Given the description of an element on the screen output the (x, y) to click on. 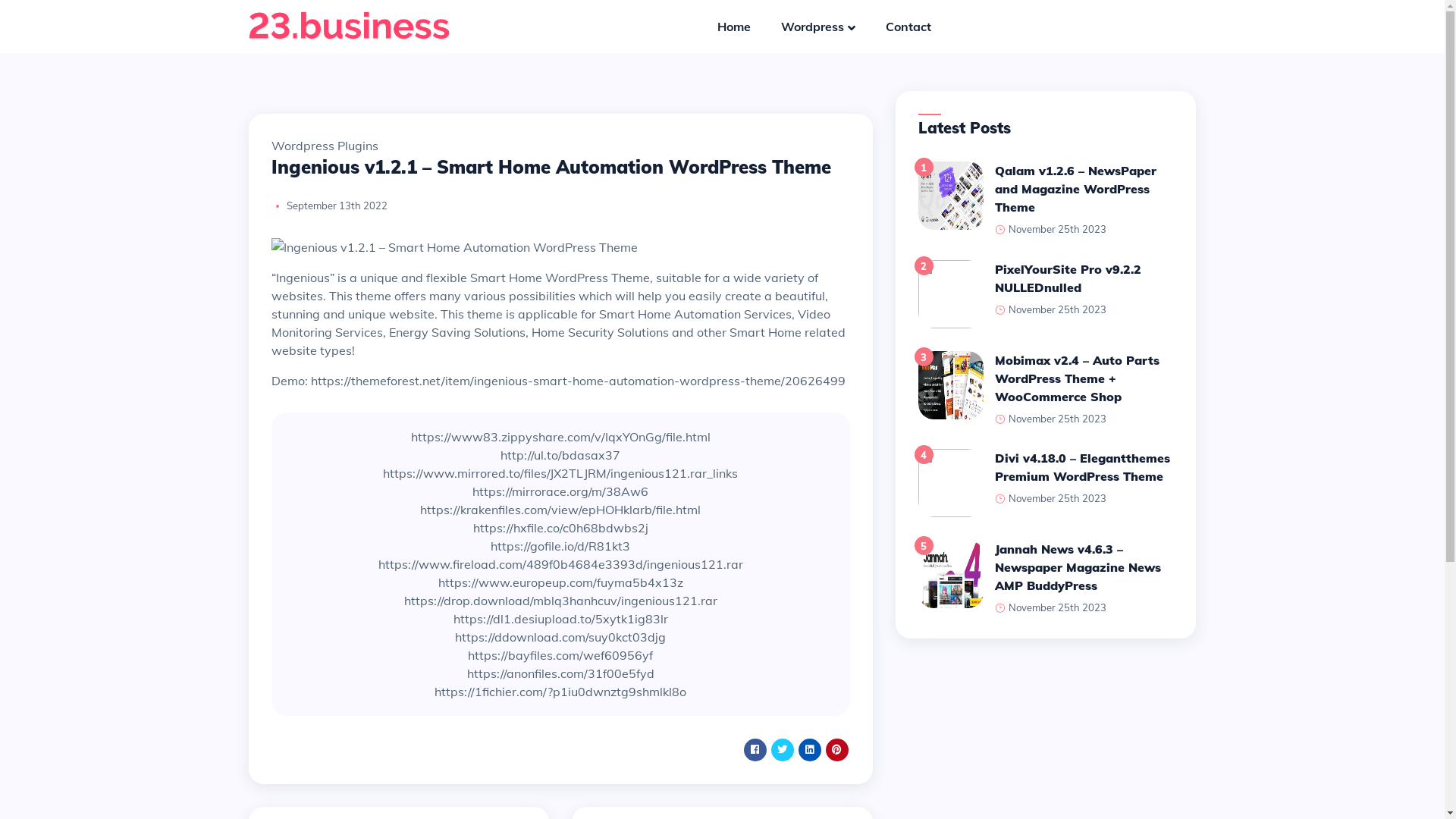
Wordpress Element type: text (833, 26)
WordPress Element type: text (577, 277)
theme Element type: text (372, 295)
Home Element type: text (749, 26)
Contact Element type: text (908, 26)
Theme Element type: text (630, 277)
Wordpress Plugins Element type: text (324, 145)
theme Element type: text (484, 313)
PixelYourSite Pro v9.2.2 NULLEDnulled Element type: text (1067, 277)
theme Element type: text (762, 380)
